Given the description of an element on the screen output the (x, y) to click on. 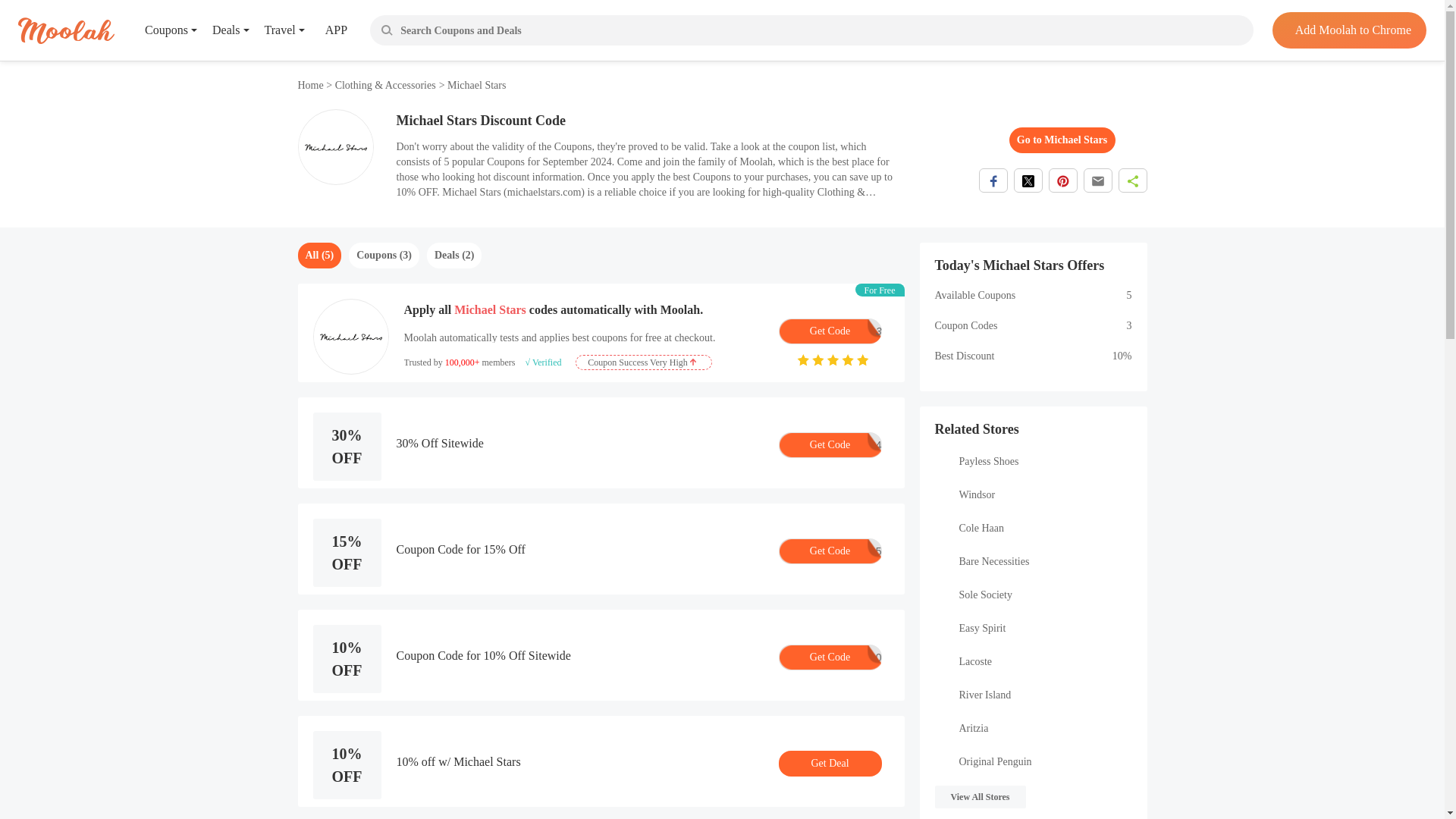
Go to Michael Stars (828, 330)
APP (1061, 140)
Home (324, 30)
Add Moolah to Chrome (311, 84)
